Given the description of an element on the screen output the (x, y) to click on. 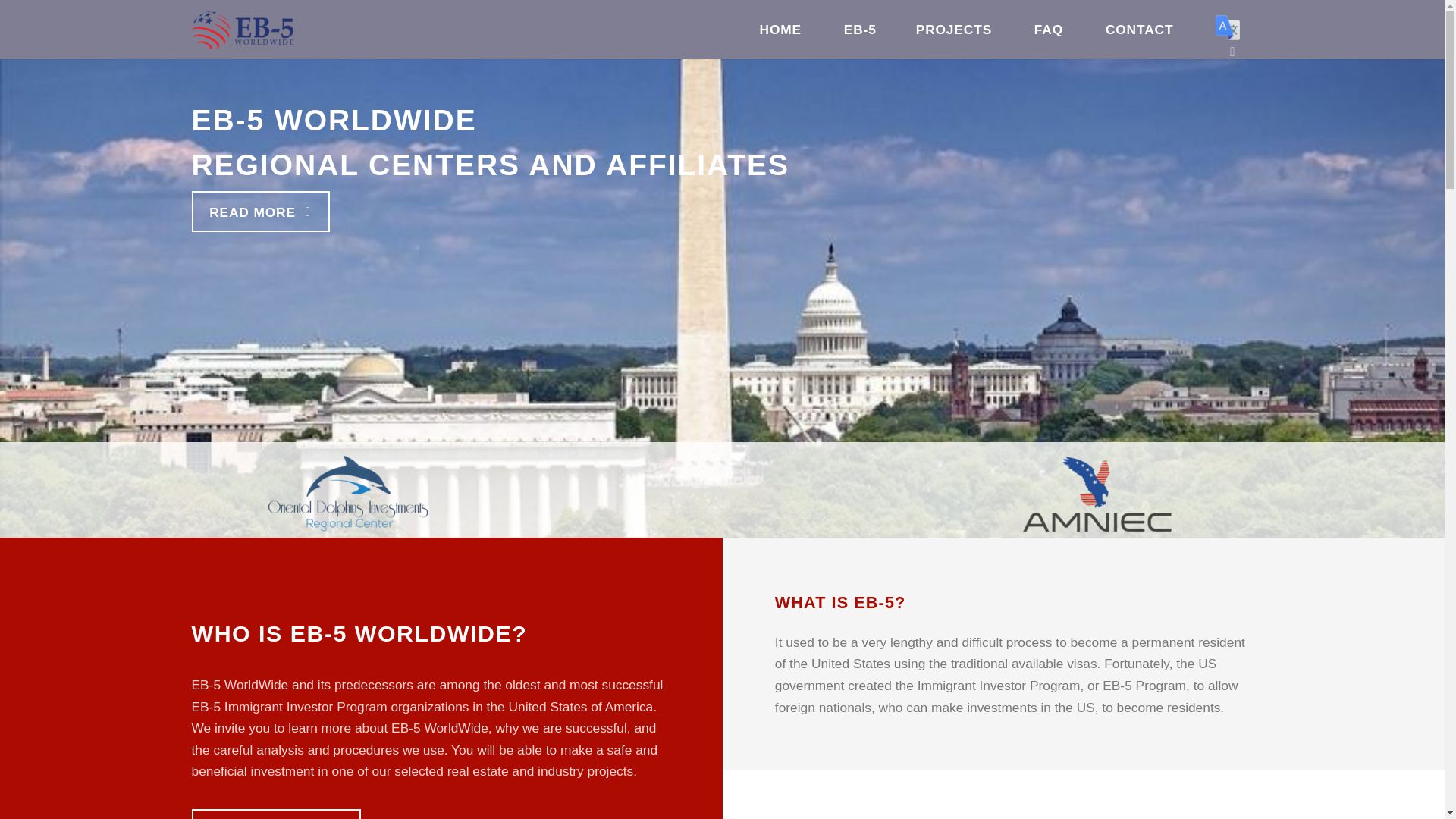
PROJECTS (953, 29)
HOME (779, 29)
FAQ (1049, 29)
EB5WW'S HISTORY (274, 814)
CONTACT (1139, 29)
EB-5 (859, 29)
READ MORE (260, 210)
